Given the description of an element on the screen output the (x, y) to click on. 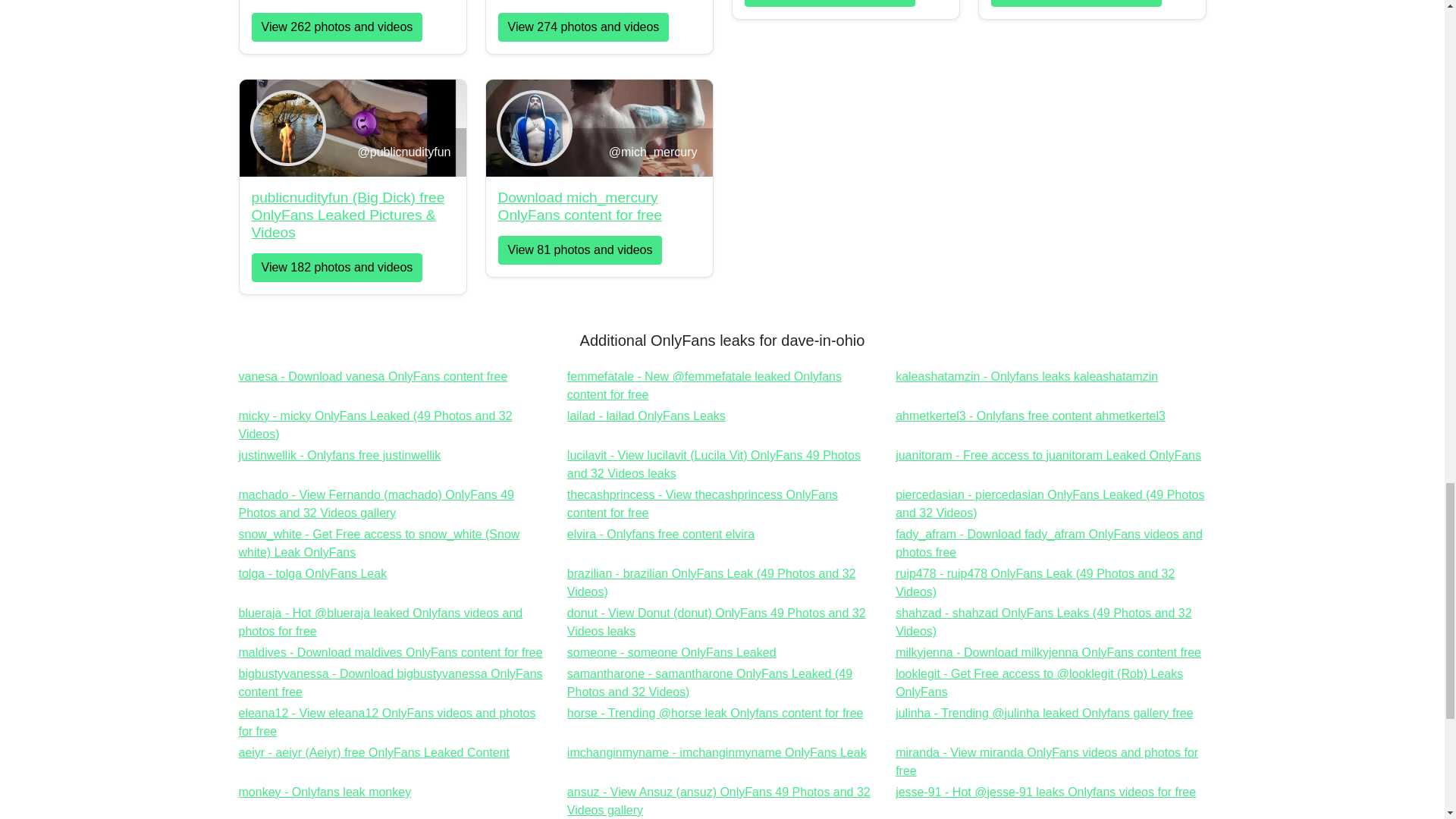
kaleashatamzin - Onlyfans leaks kaleashatamzin (372, 376)
lailad - lailad OnlyFans Leaks (660, 533)
ahmetkertel3 - Onlyfans free content ahmetkertel3 (1030, 415)
justinwellik - Onlyfans free justinwellik (1026, 376)
vanesa - Download vanesa OnlyFans content free (1026, 376)
